Given the description of an element on the screen output the (x, y) to click on. 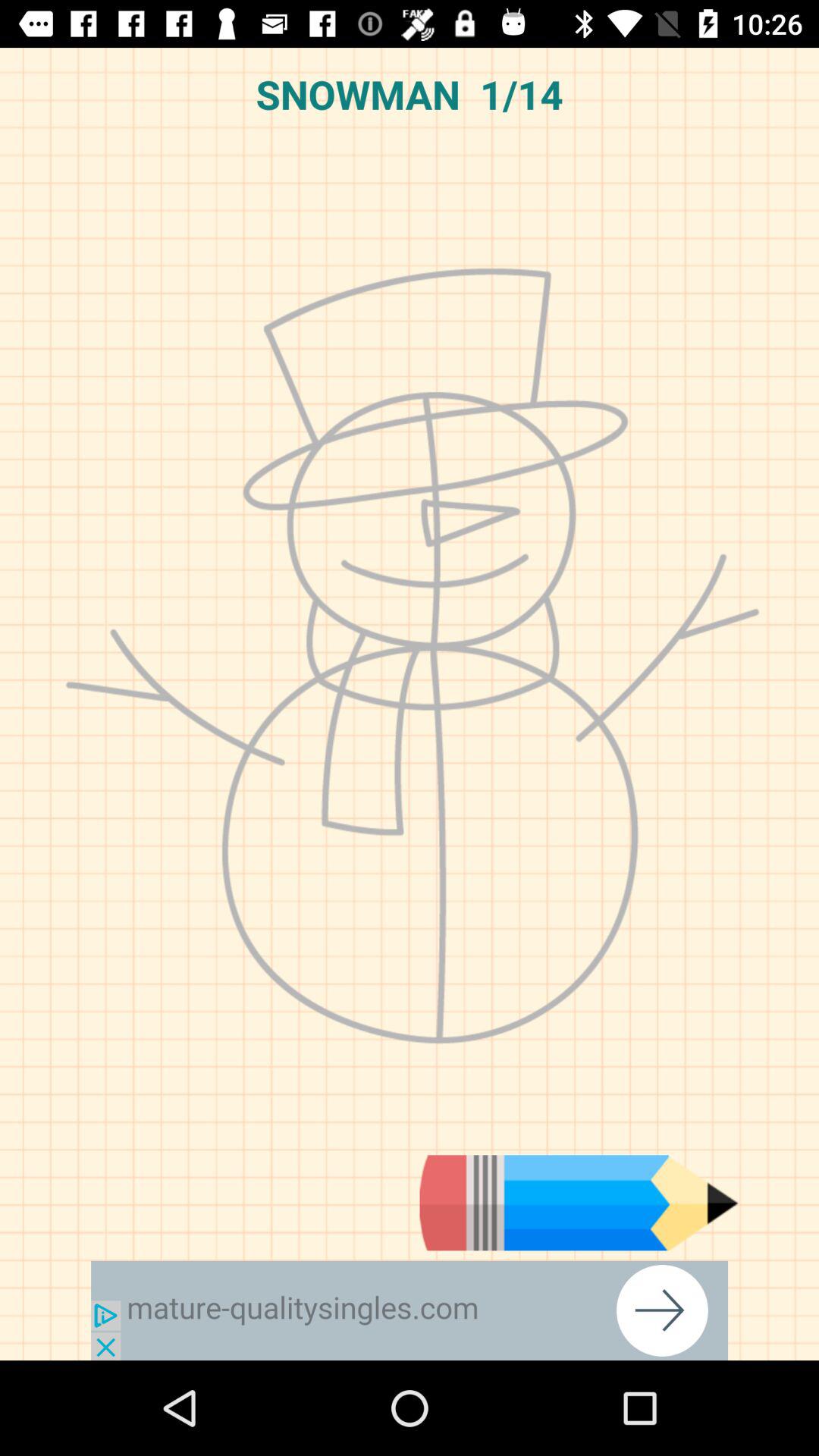
visit advertised site (409, 1310)
